Given the description of an element on the screen output the (x, y) to click on. 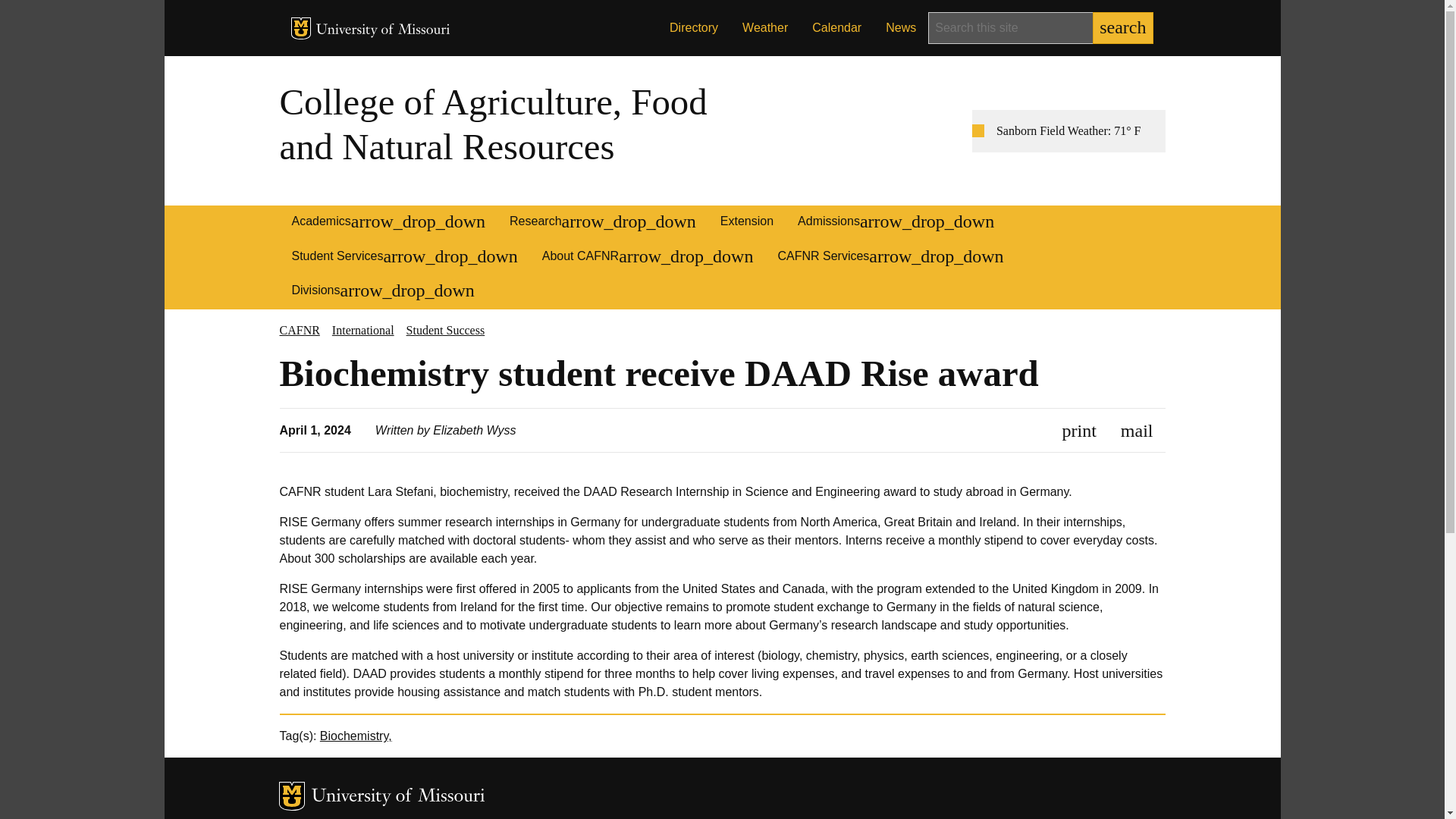
Print (1079, 429)
Calendar (836, 28)
News (900, 28)
College of Agriculture, Food and Natural Resources (492, 124)
Weather (764, 28)
University of Missouri (382, 30)
MU Logo (301, 27)
Email (1137, 429)
Extension (746, 222)
College of Agriculture, Food and Natural Resources (492, 124)
search (1123, 28)
Directory (694, 28)
